Given the description of an element on the screen output the (x, y) to click on. 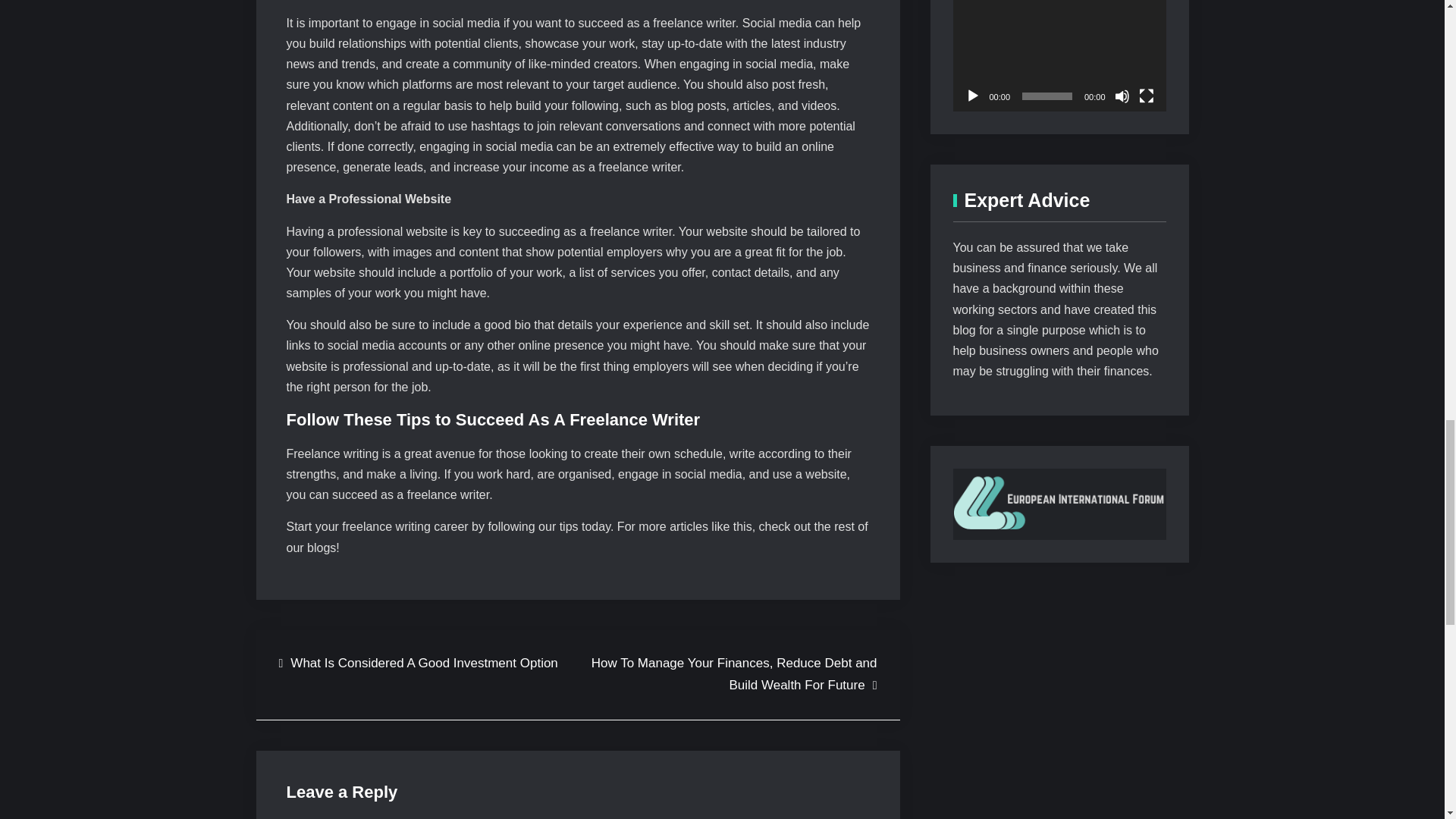
Fullscreen (1146, 96)
Mute (1122, 96)
Play (971, 96)
What Is Considered A Good Investment Option (418, 663)
